Given the description of an element on the screen output the (x, y) to click on. 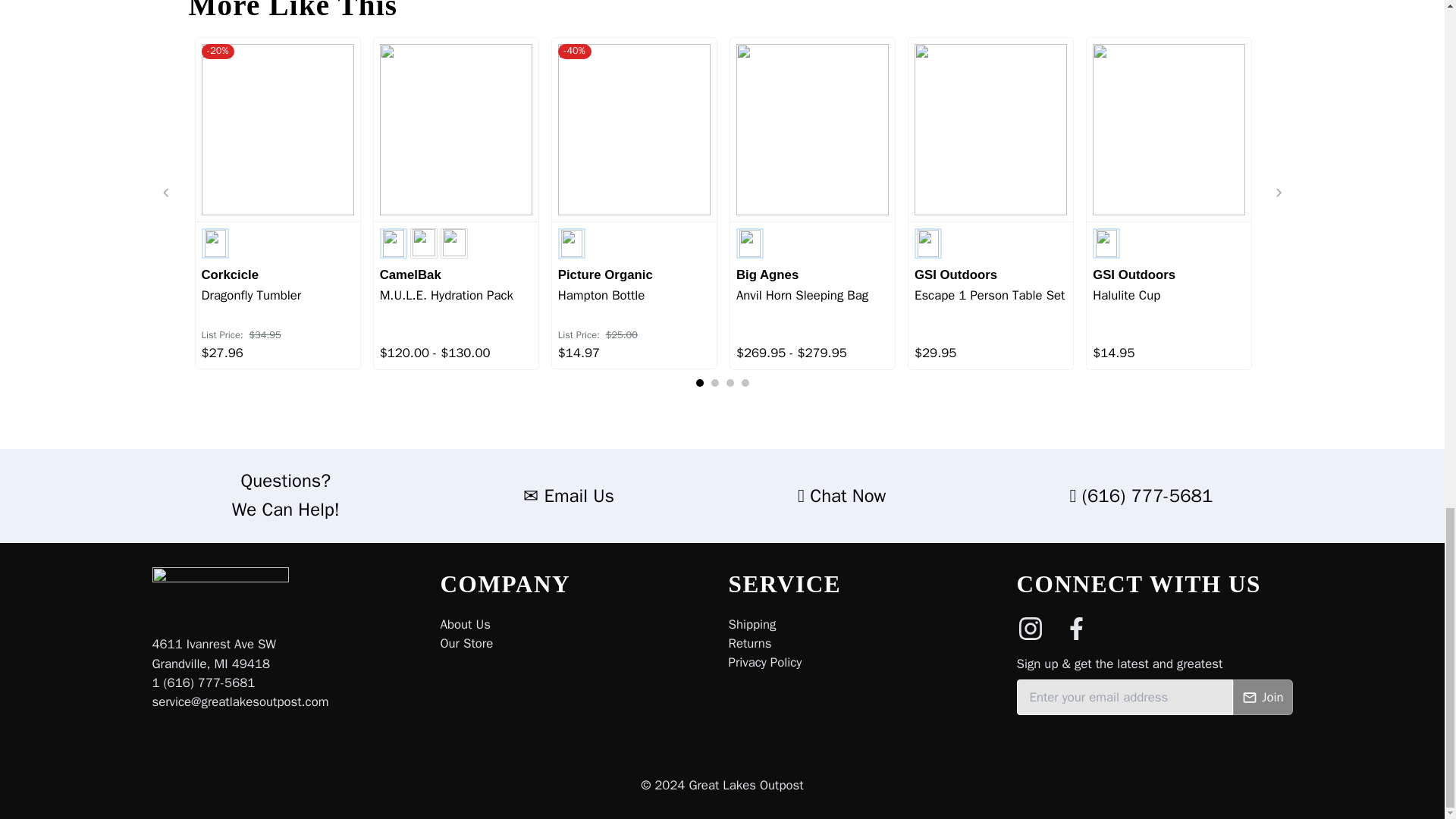
M.U.L.E. Hydration Pack (456, 303)
Dragonfly Tumbler (277, 303)
Anvil Horn Sleeping Bag (812, 303)
Dragonfly Tumbler (277, 303)
Hampton Bottle (633, 303)
Escape 1 Person Table Set (990, 303)
Halulite Cup (1168, 303)
